Given the description of an element on the screen output the (x, y) to click on. 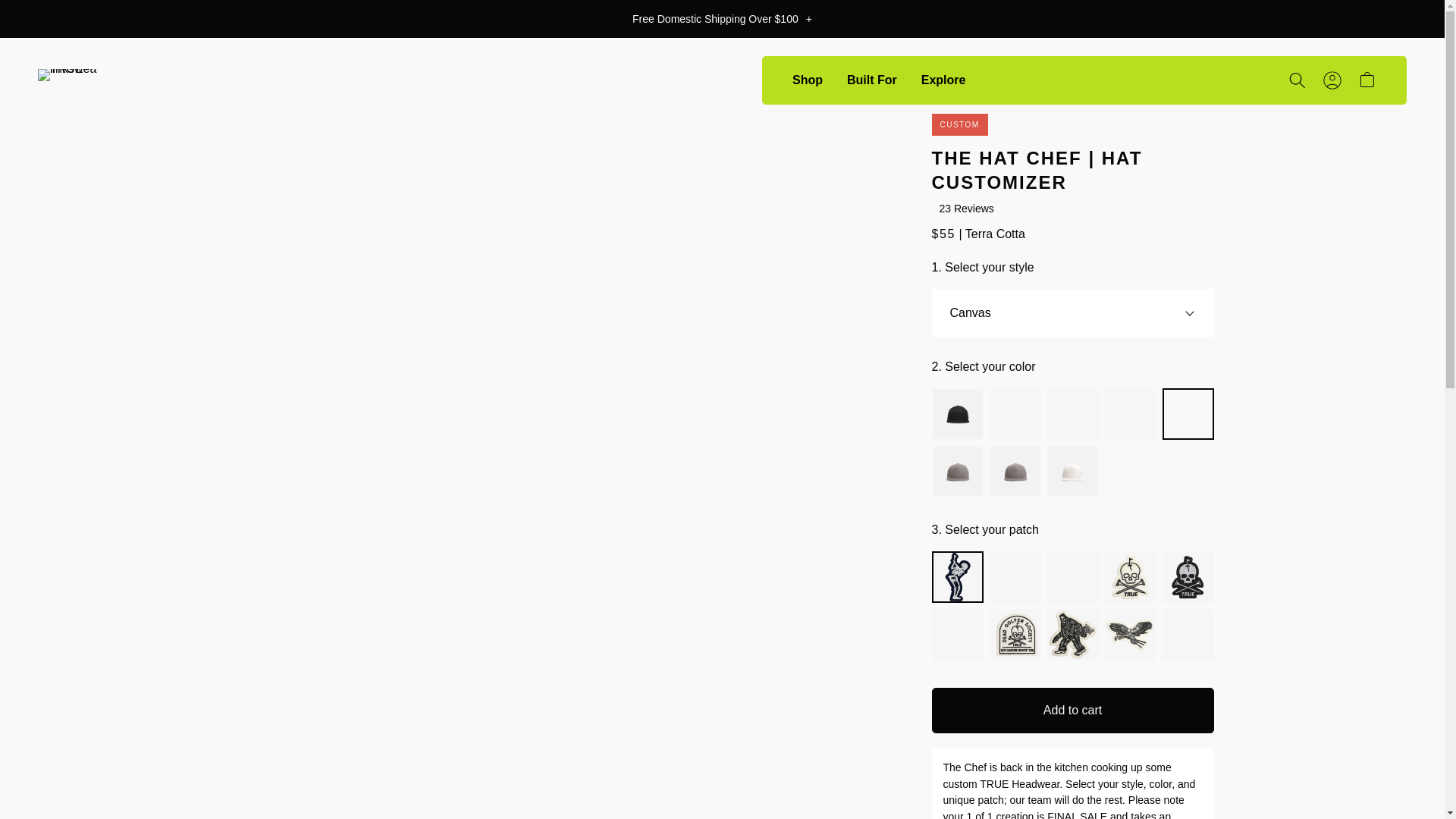
Cart (1357, 80)
Sign In (1331, 80)
